Given the description of an element on the screen output the (x, y) to click on. 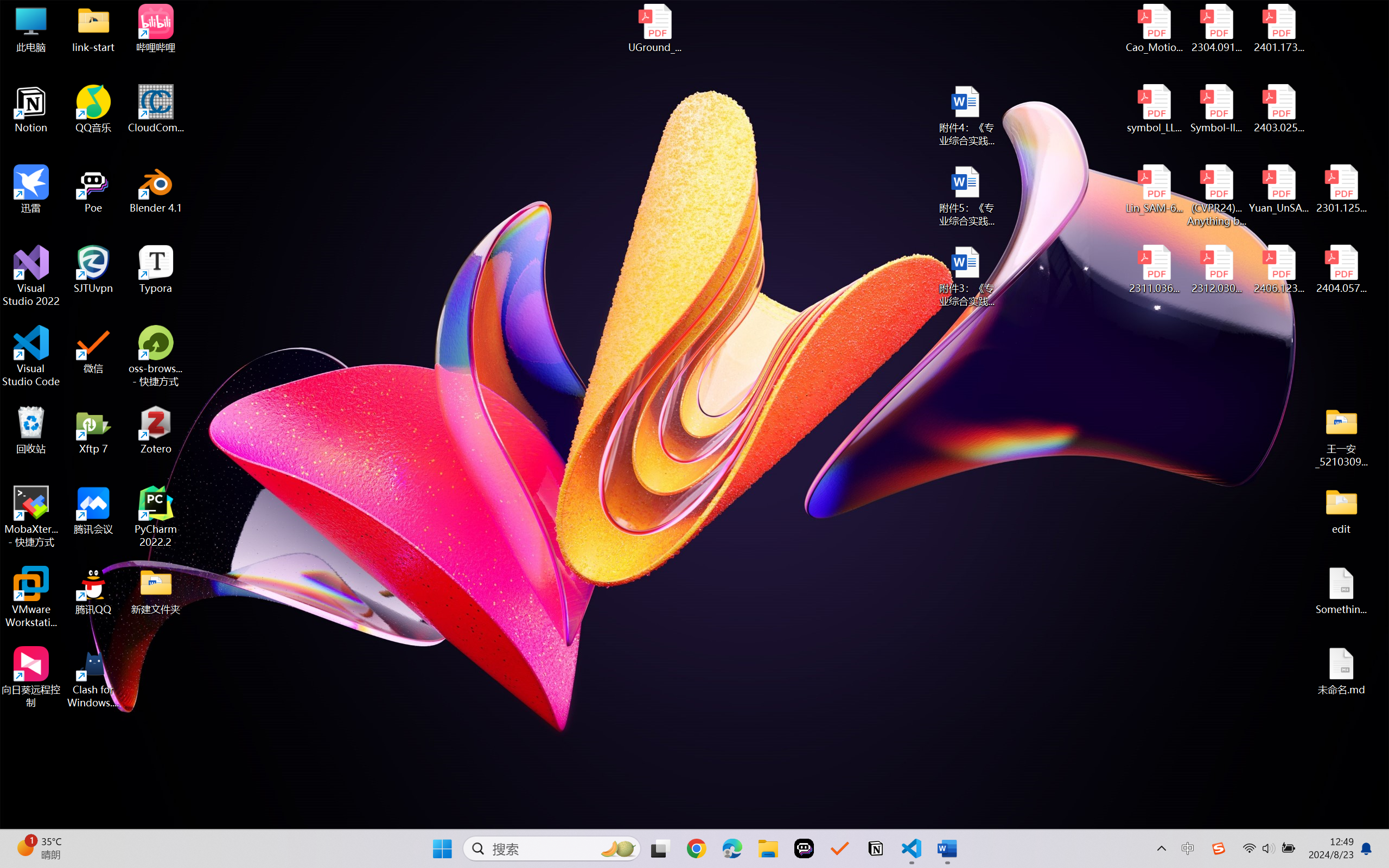
Typora (156, 269)
2301.12597v3.pdf (1340, 189)
PyCharm 2022.2 (156, 516)
2312.03032v2.pdf (1216, 269)
2401.17399v1.pdf (1278, 28)
